Given the description of an element on the screen output the (x, y) to click on. 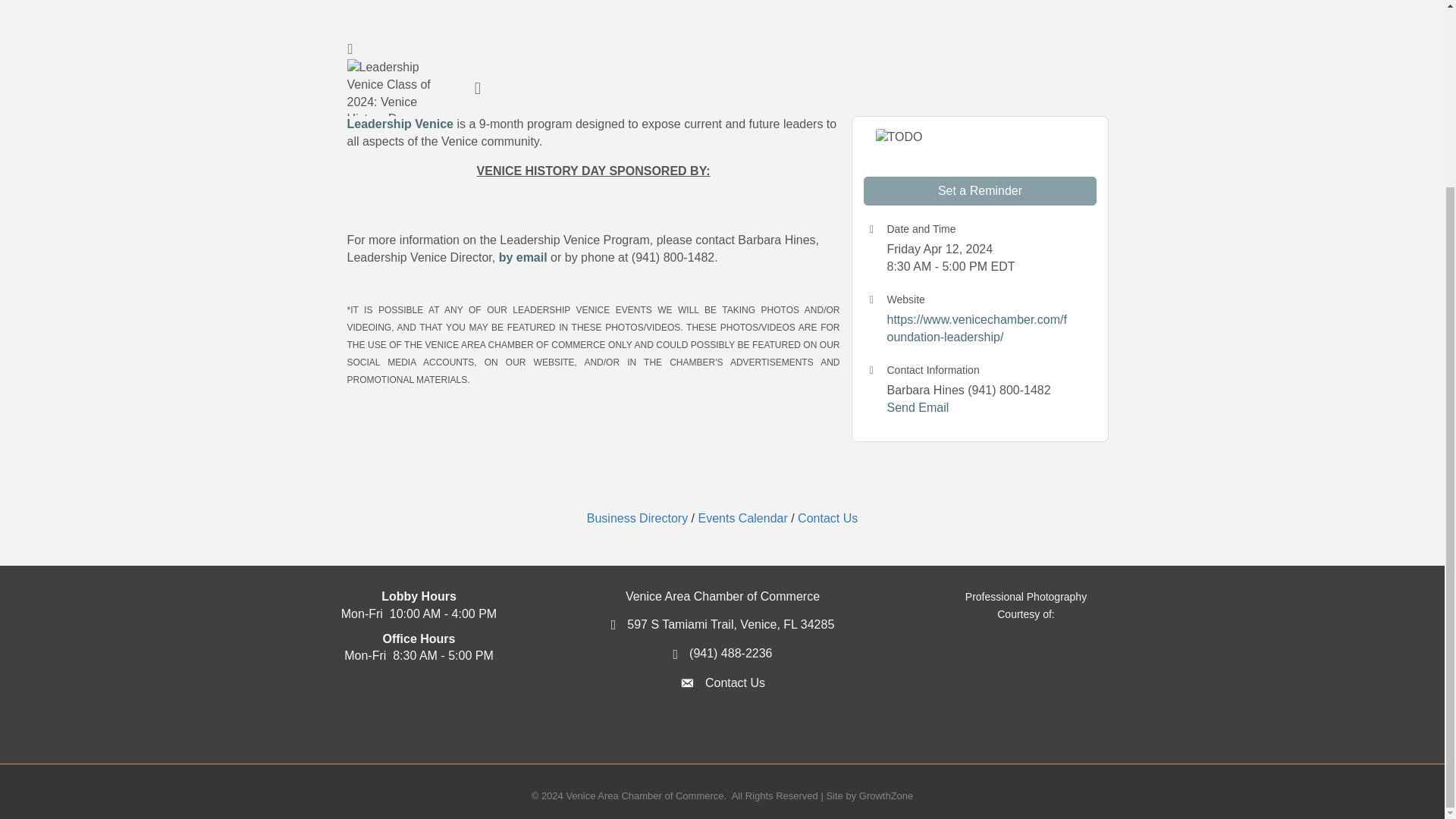
Set a Reminder (979, 190)
Leadership Venice (400, 123)
by email (523, 256)
